Given the description of an element on the screen output the (x, y) to click on. 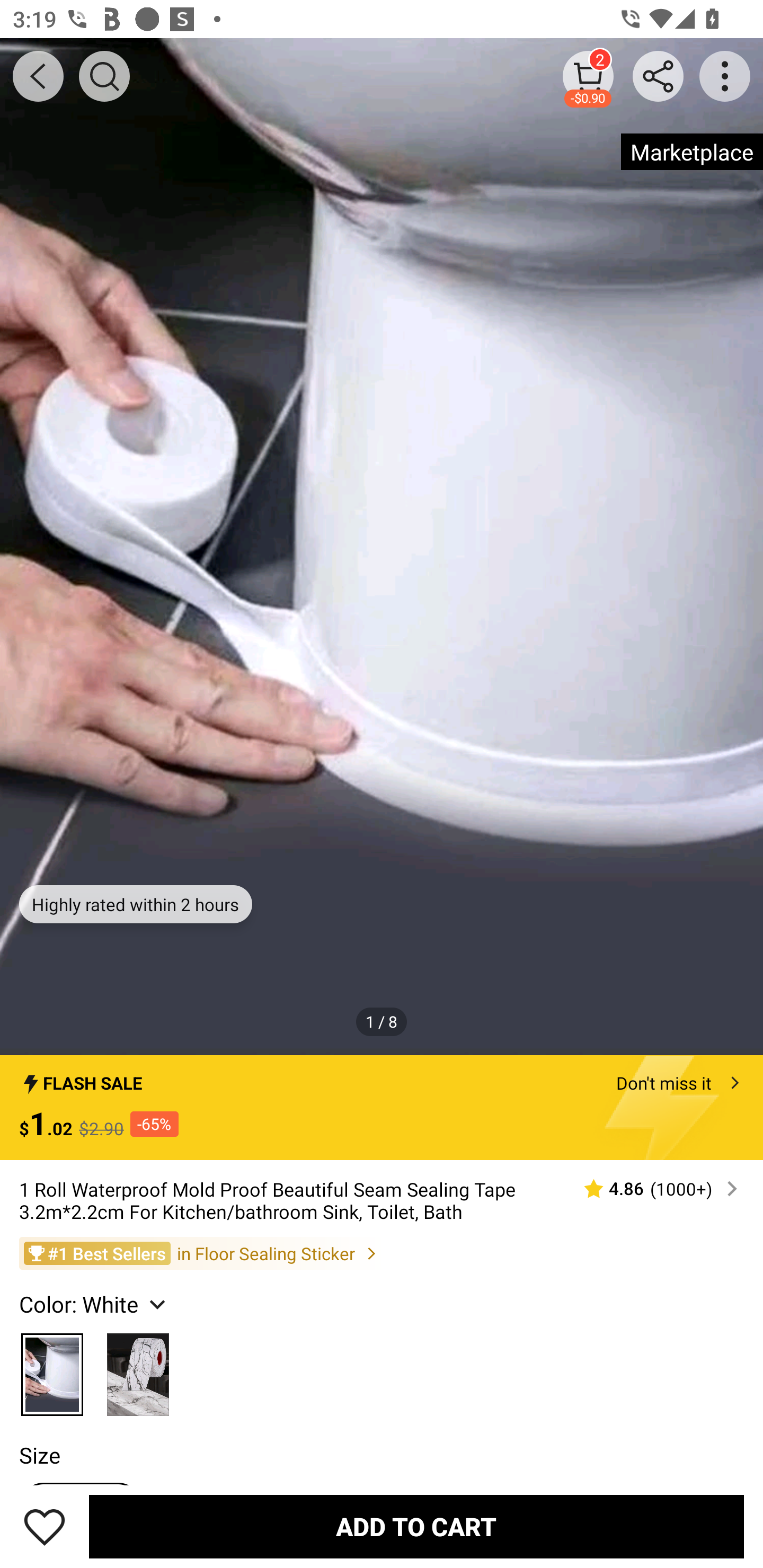
BACK (38, 75)
2 -$0.90 (588, 75)
1 / 8 (381, 1021)
FLASH SALE Don't miss it $1.02 $2.90 -65% (381, 1107)
FLASH SALE Don't miss it (381, 1077)
4.86 (1000‎+) (653, 1188)
#1 Best Sellers in Floor Sealing Sticker (381, 1253)
Color: White (94, 1303)
White (52, 1369)
Black and White (138, 1369)
Size (39, 1454)
ADD TO CART (416, 1526)
Save (44, 1526)
